Given the description of an element on the screen output the (x, y) to click on. 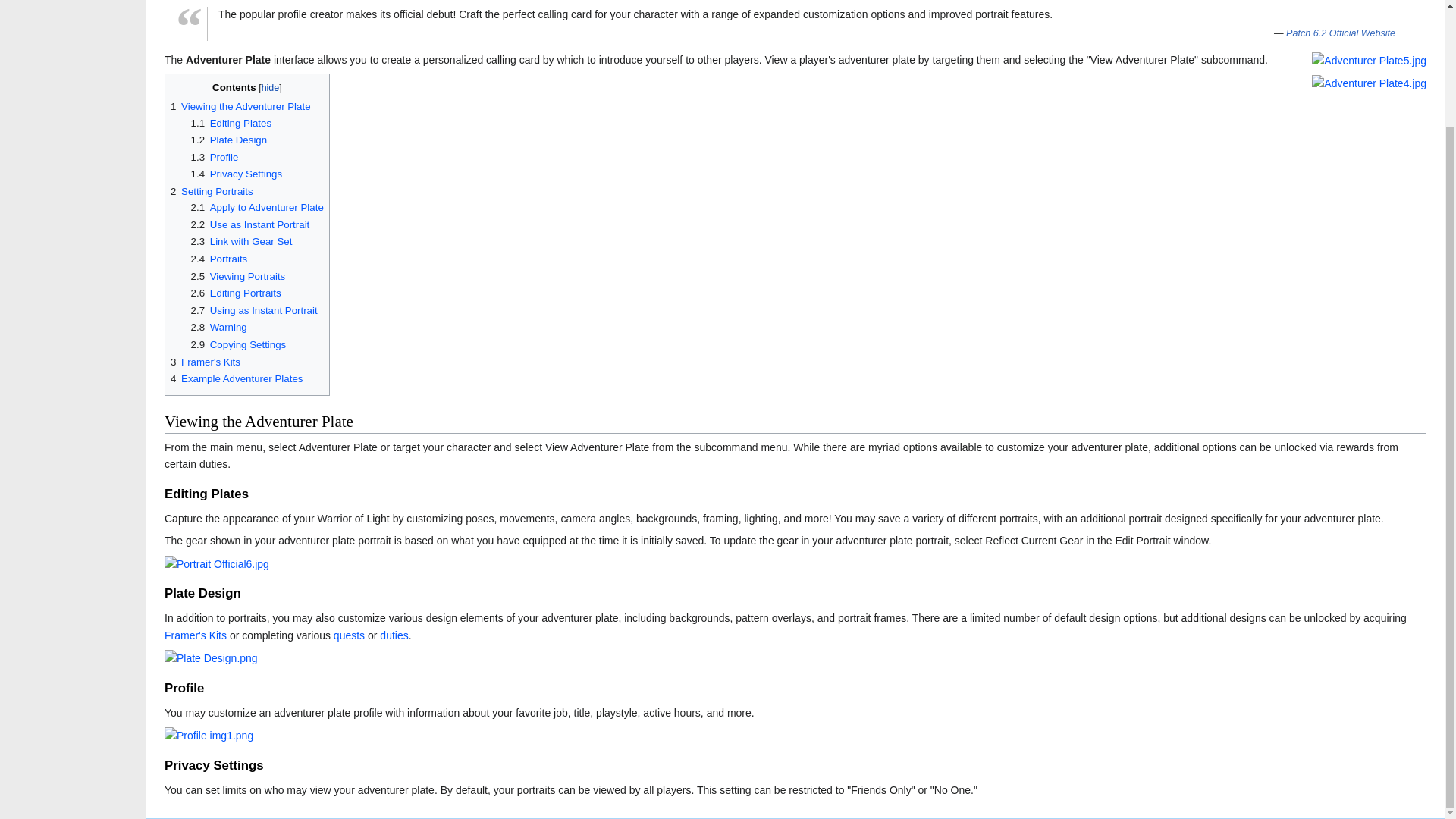
1.2 Plate Design (228, 139)
duties (393, 635)
2.8 Warning (218, 326)
1 Viewing the Adventurer Plate (240, 106)
2.6 Editing Portraits (235, 292)
2.7 Using as Instant Portrait (253, 310)
1.4 Privacy Settings (236, 173)
3 Framer's Kits (205, 361)
2.1 Apply to Adventurer Plate (256, 206)
Patch 6.2 Official Website (1345, 32)
